Given the description of an element on the screen output the (x, y) to click on. 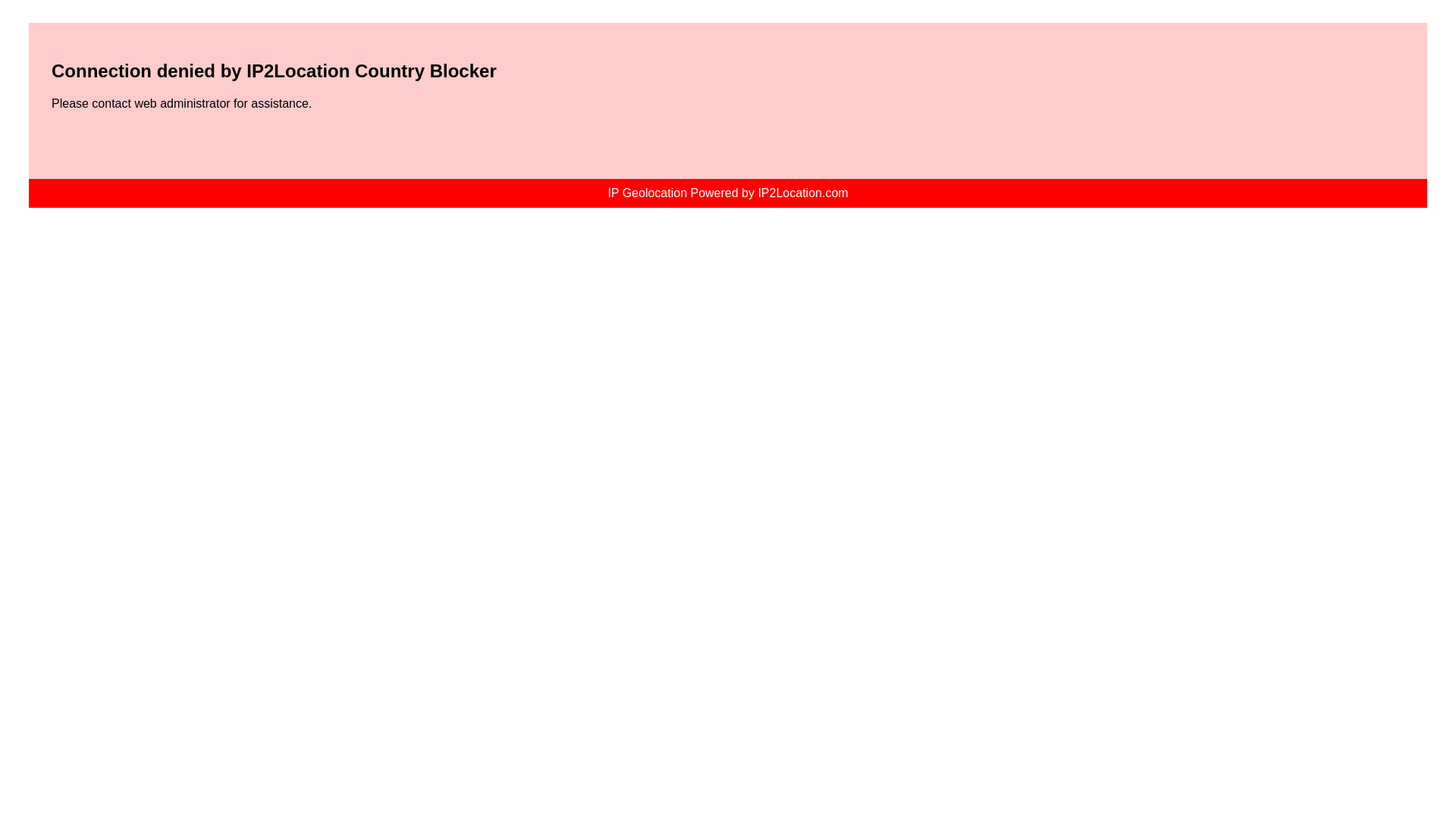
IP Geolocation Powered by IP2Location.com (727, 192)
